Given the description of an element on the screen output the (x, y) to click on. 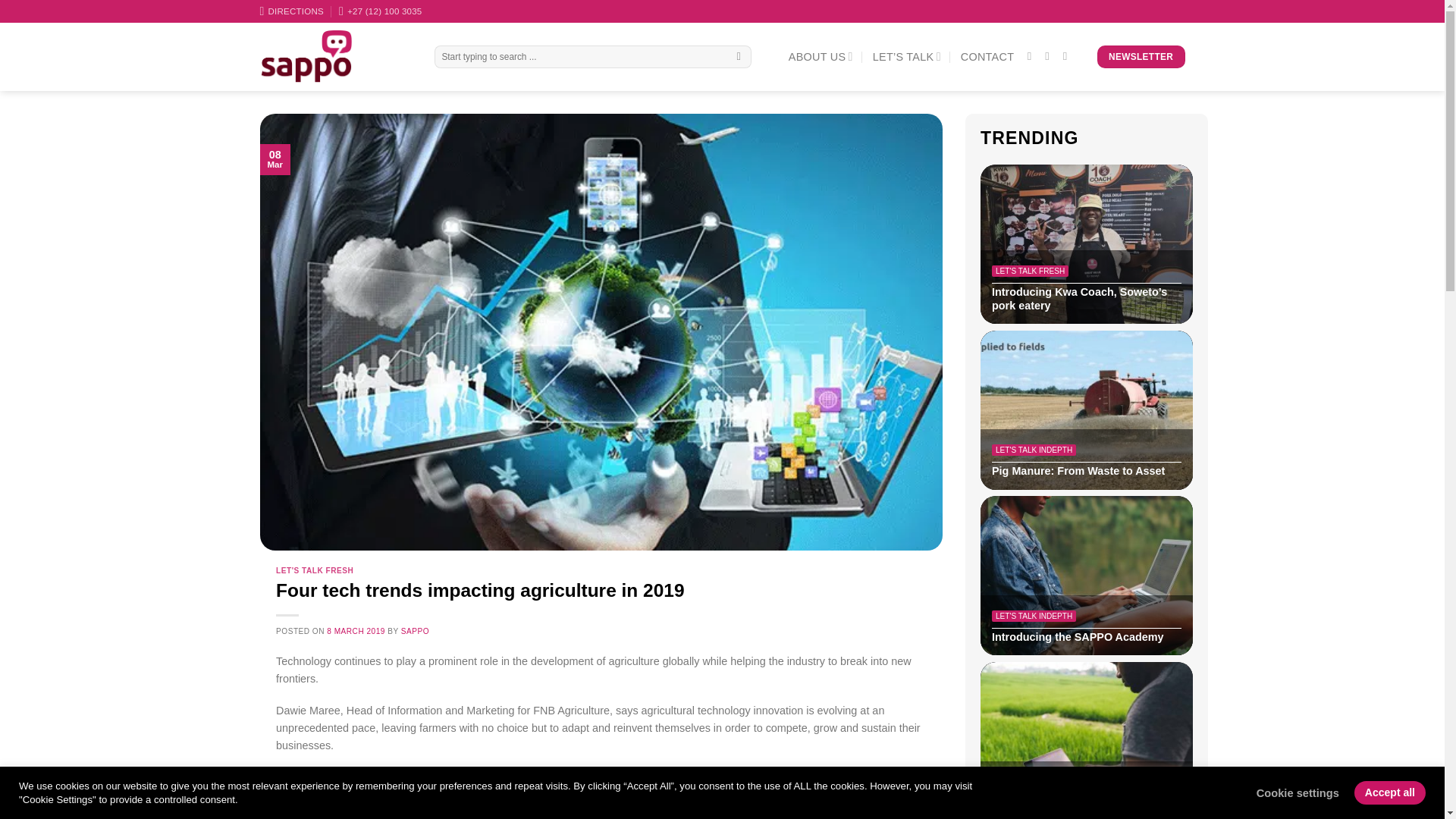
NEWSLETTER (1141, 56)
SAPPO - South African Pork Producers' Organisation (334, 56)
DIRECTIONS (291, 11)
CONTACT (987, 56)
8 MARCH 2019 (355, 631)
Follow on Facebook (1033, 55)
LET'S TALK FRESH (314, 570)
ABOUT US (821, 56)
Follow on Instagram (1051, 55)
SAPPO (415, 631)
Follow on LinkedIn (1068, 55)
